Given the description of an element on the screen output the (x, y) to click on. 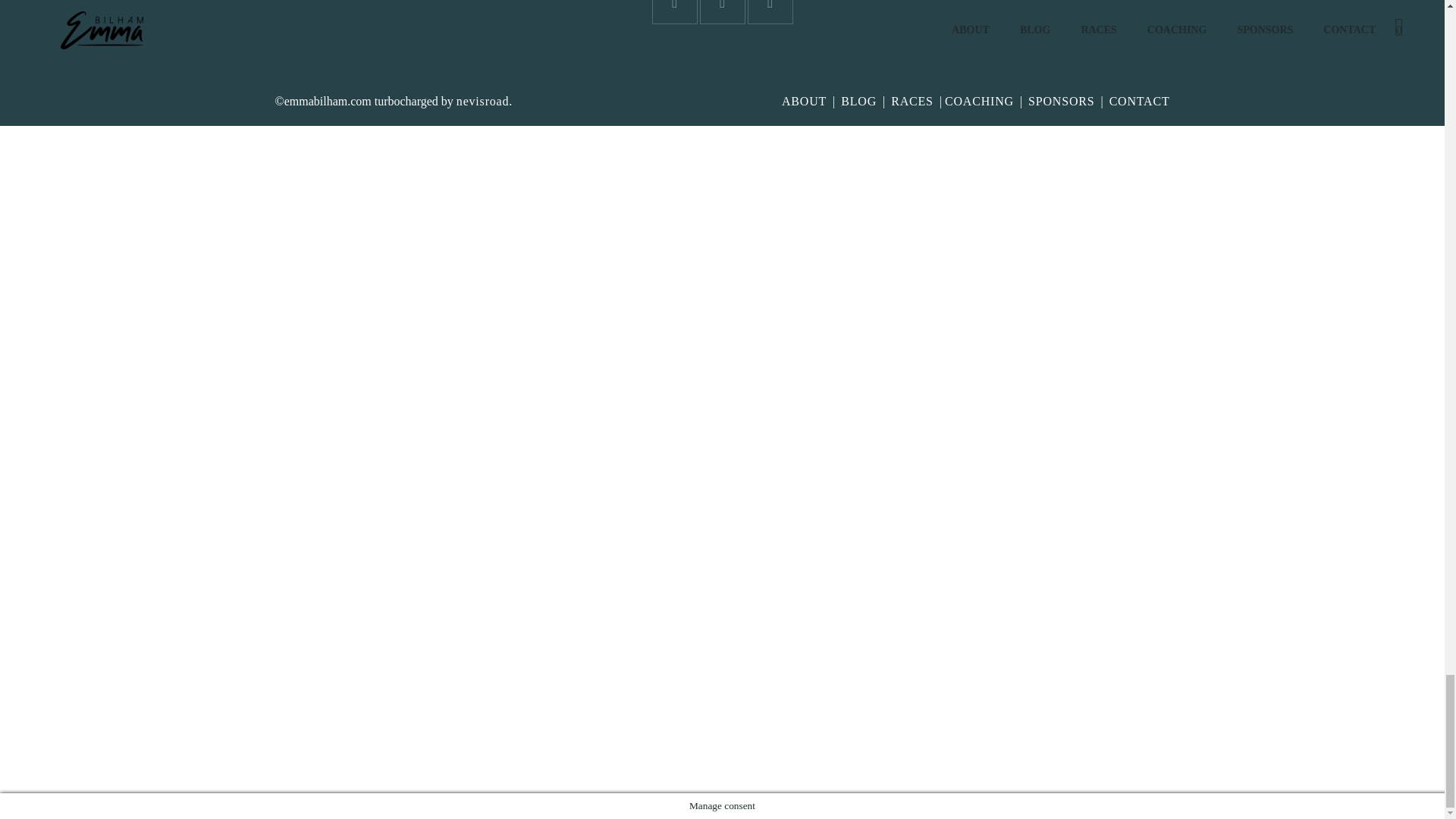
RACES (912, 101)
COACHING (978, 101)
BLOG (858, 101)
nevisroad (482, 101)
SPONSORS (1060, 101)
ABOUT (804, 101)
